Given the description of an element on the screen output the (x, y) to click on. 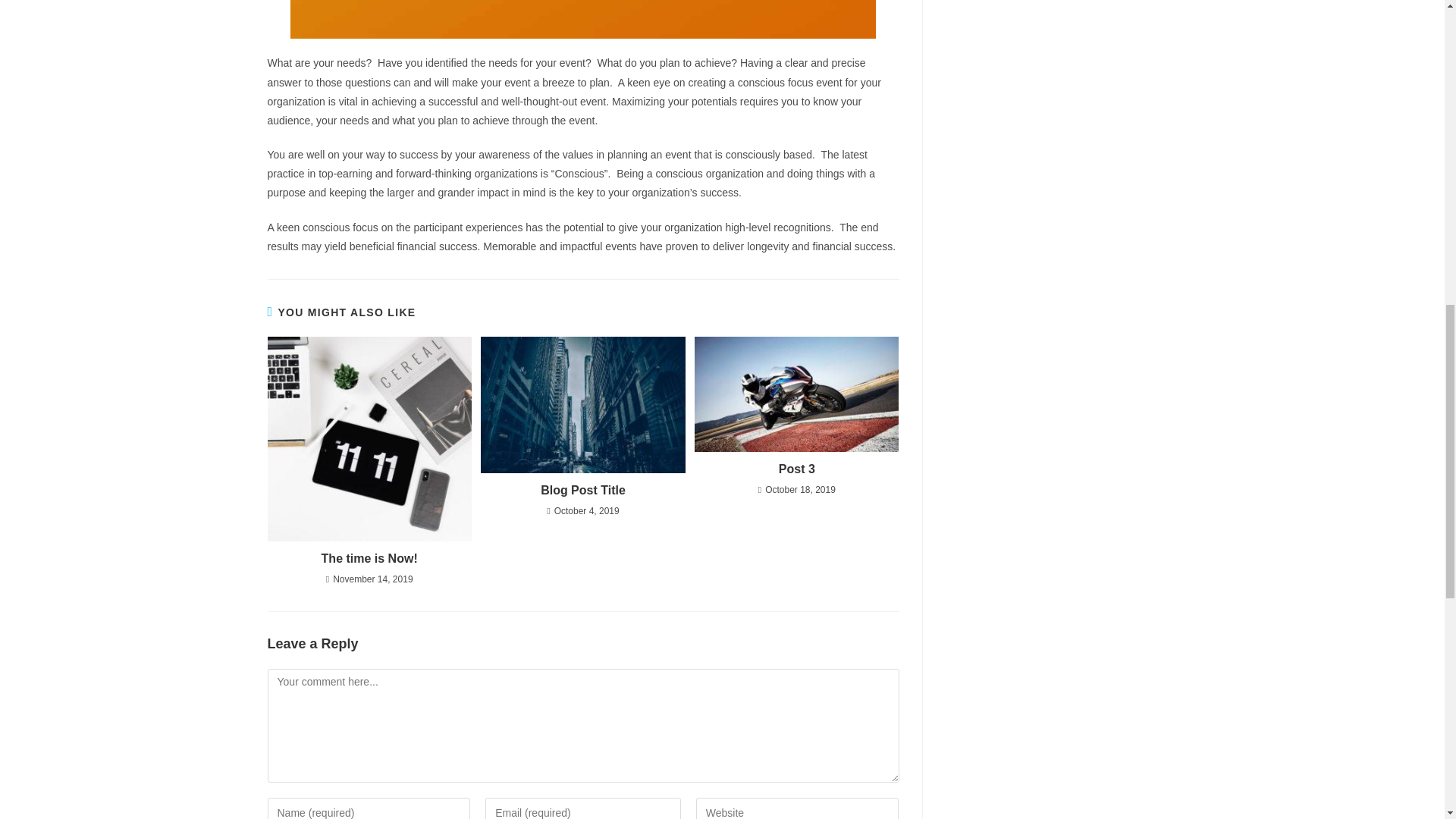
Post 3 (796, 469)
The time is Now! (368, 558)
Blog Post Title (582, 490)
